Given the description of an element on the screen output the (x, y) to click on. 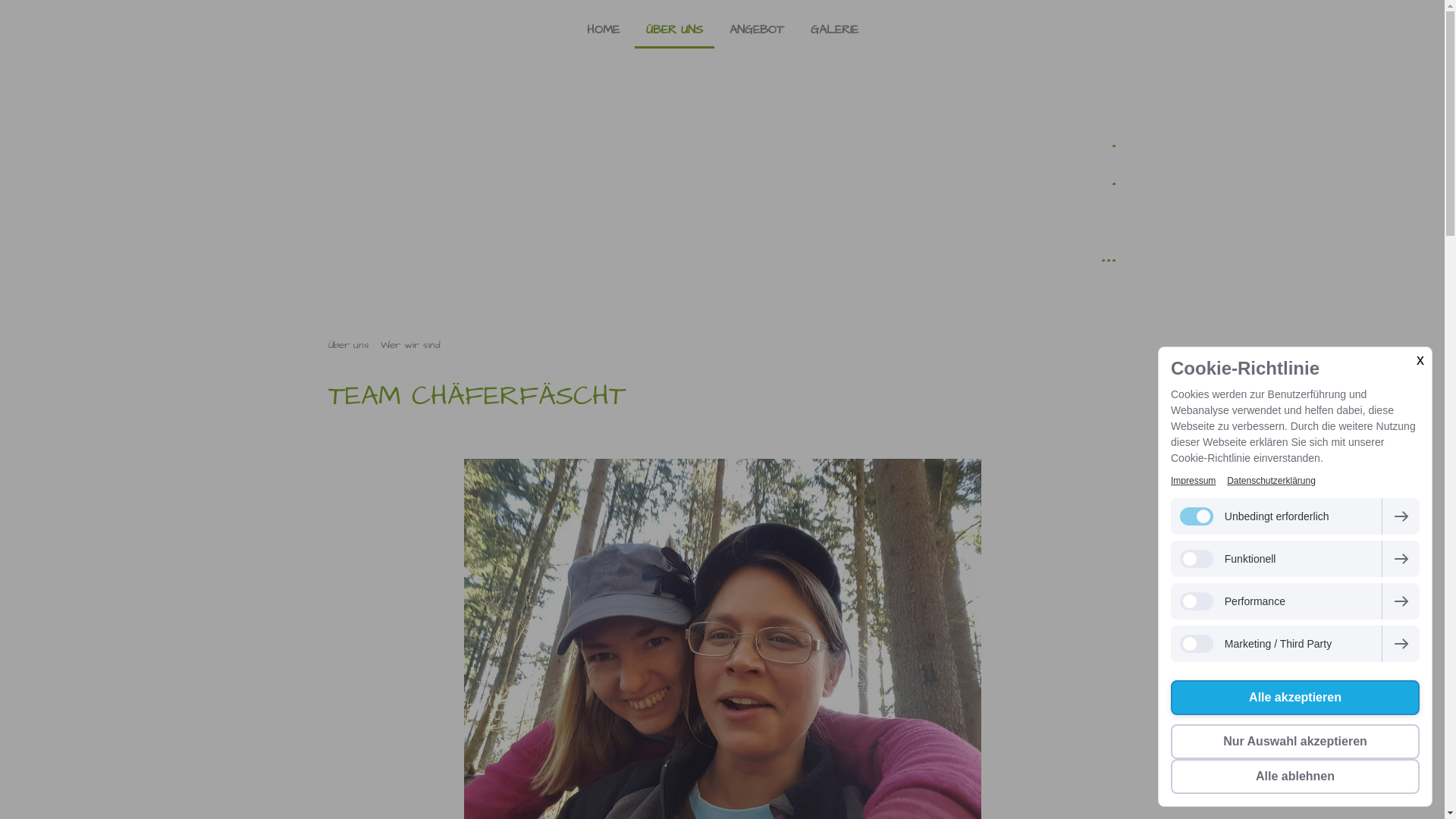
Nur Auswahl akzeptieren Element type: text (1294, 741)
Impressum Element type: text (1192, 480)
Alle ablehnen Element type: text (1294, 776)
Alle akzeptieren Element type: text (1294, 697)
GALERIE Element type: text (834, 29)
.
.

... Element type: text (721, 193)
HOME Element type: text (602, 29)
Wer wir sind Element type: text (407, 344)
ANGEBOT Element type: text (755, 29)
